Given the description of an element on the screen output the (x, y) to click on. 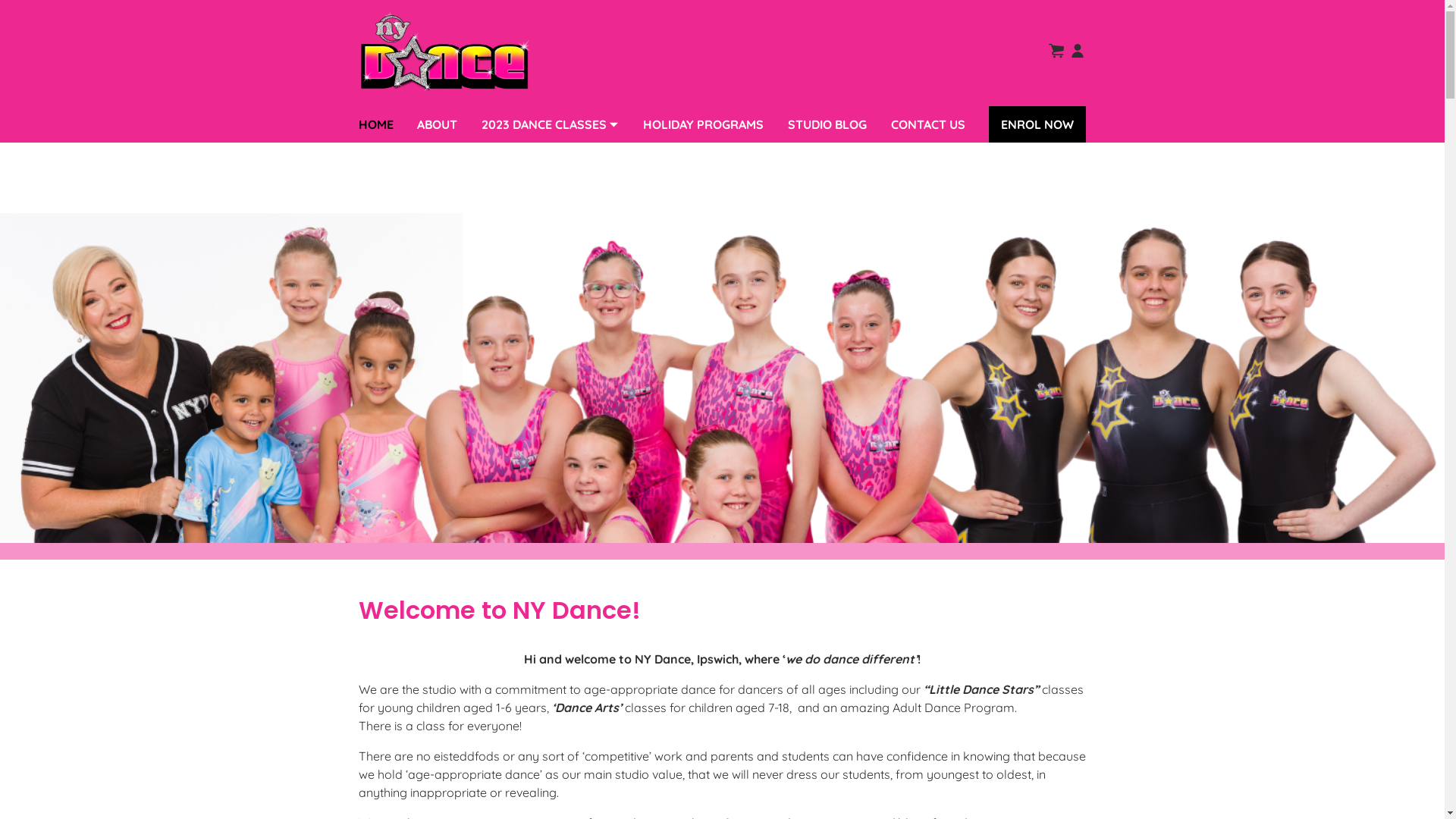
ENROL NOW Element type: text (1036, 124)
HOLIDAY PROGRAMS Element type: text (703, 124)
HOME Element type: text (374, 124)
STUDIO BLOG Element type: text (826, 124)
CONTACT US Element type: text (928, 124)
My account Element type: hover (1076, 50)
ABOUT Element type: text (437, 124)
2023 DANCE CLASSES Element type: text (549, 124)
View cart (0 items) Element type: hover (1055, 50)
